Given the description of an element on the screen output the (x, y) to click on. 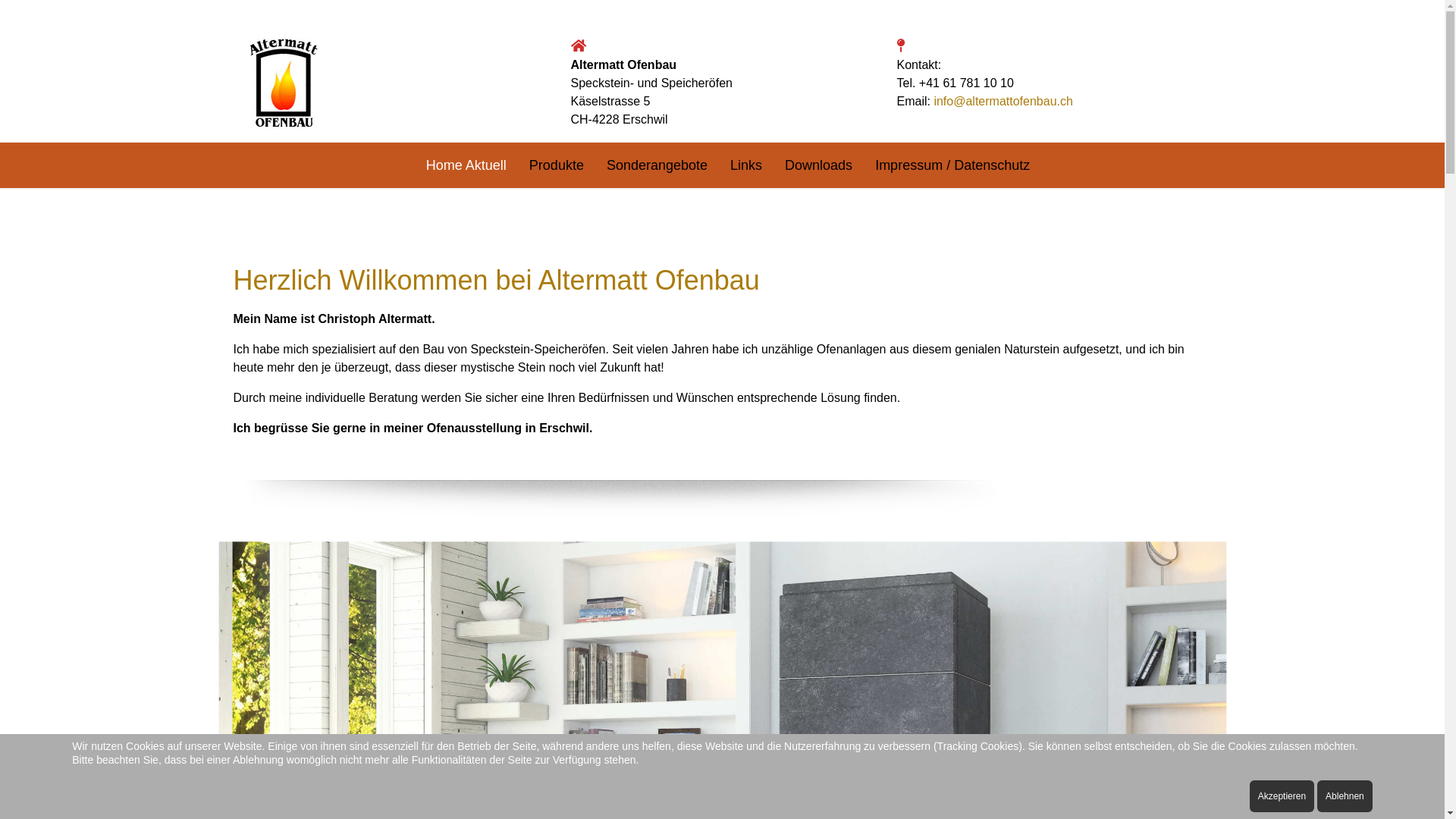
Sonderangebote Element type: text (656, 165)
Home Aktuell Element type: text (465, 165)
Impressum / Datenschutz Element type: text (946, 165)
Ablehnen Element type: text (1344, 796)
Akzeptieren Element type: text (1281, 796)
Links Element type: text (745, 165)
info@altermattofenbau.ch Element type: text (1002, 100)
Produkte Element type: text (556, 165)
Downloads Element type: text (818, 165)
